Given the description of an element on the screen output the (x, y) to click on. 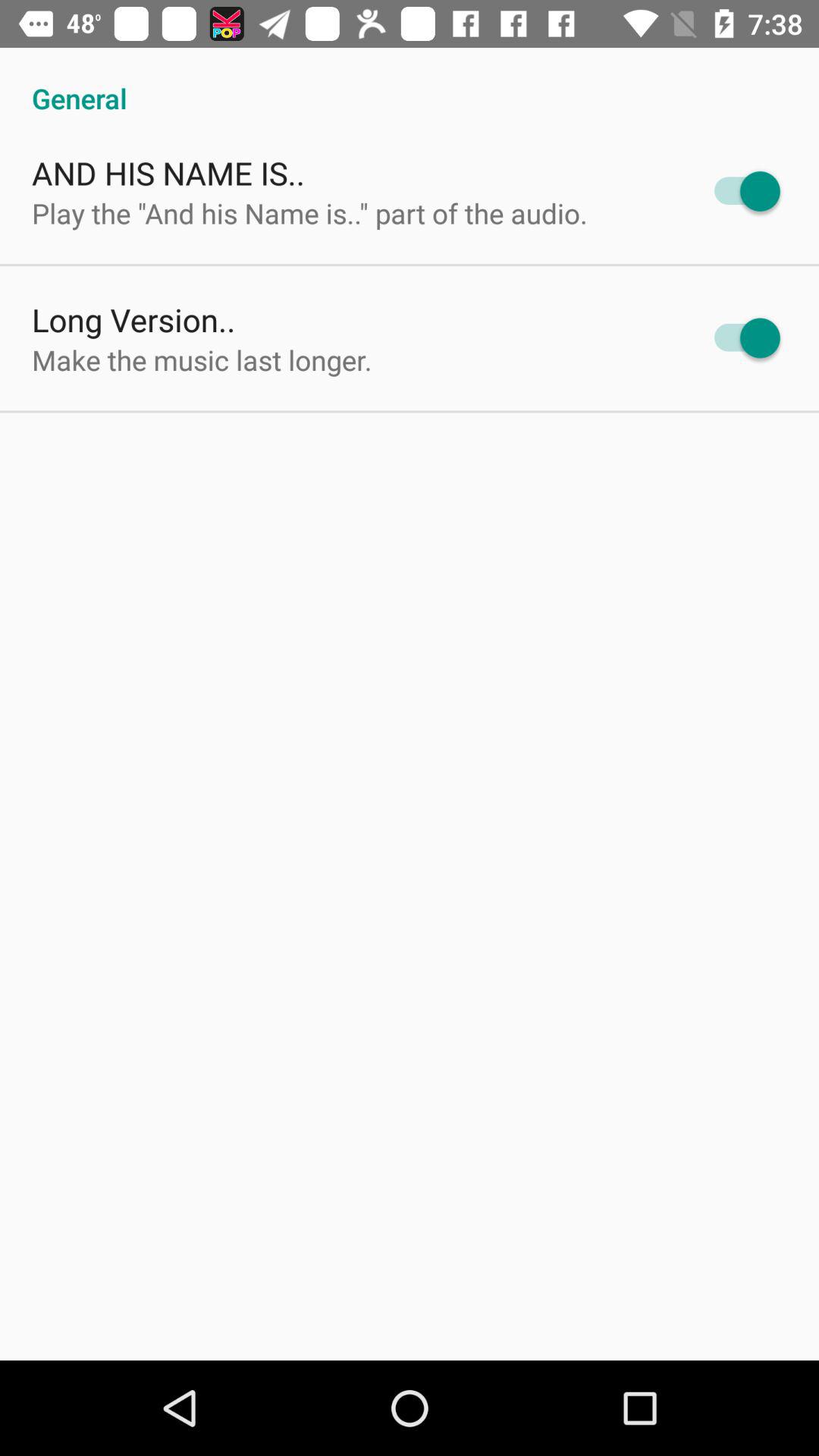
press icon above the and his name item (409, 82)
